Given the description of an element on the screen output the (x, y) to click on. 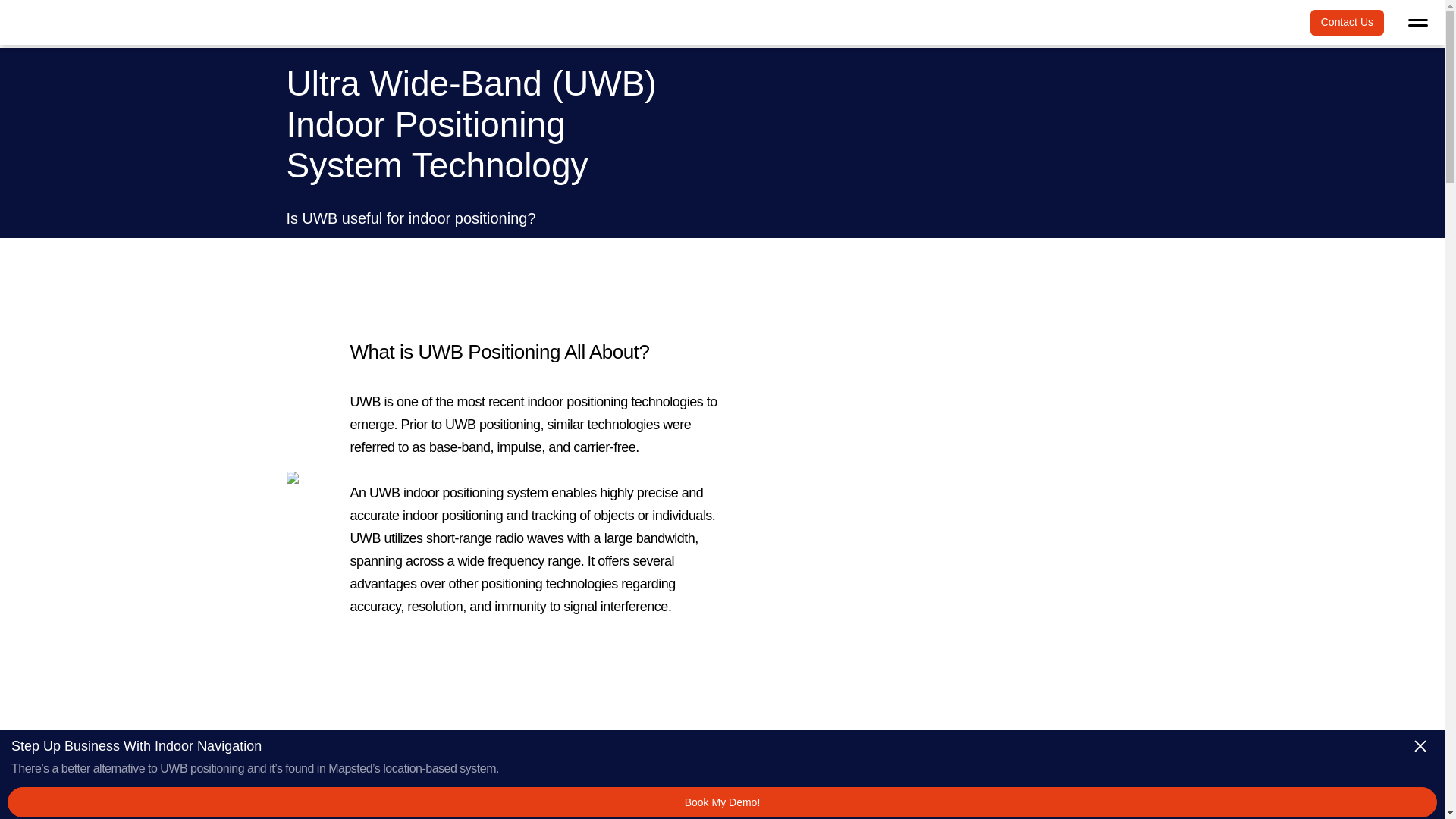
Contact Us (1347, 22)
Book My Demo! (722, 802)
